Given the description of an element on the screen output the (x, y) to click on. 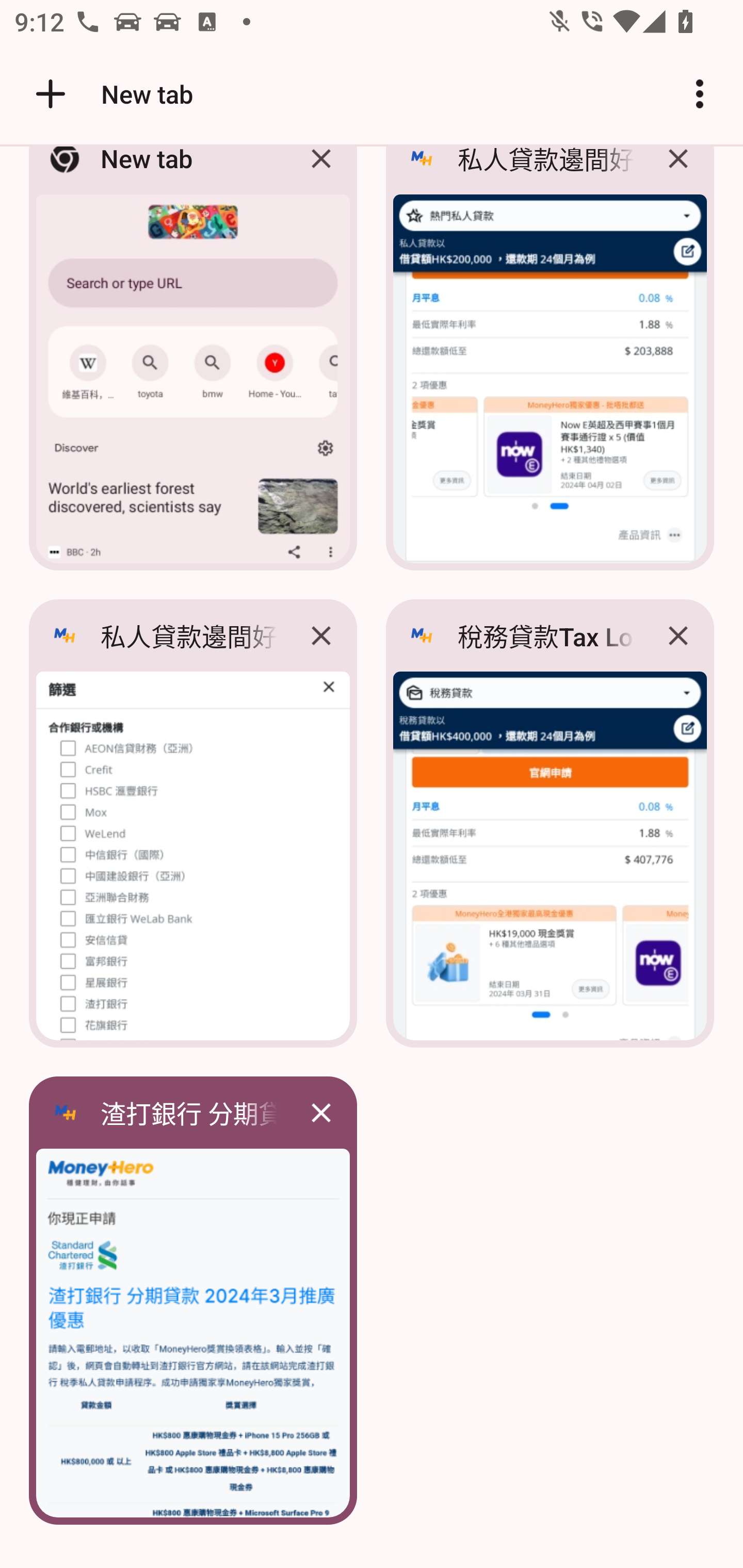
Open the home page (43, 93)
New tab (111, 93)
Customize and control Google Chrome (699, 93)
Customize and control Google Chrome (699, 93)
Customize and control Google Chrome (699, 93)
New tab New tab, tab Close New tab tab (192, 364)
Close New tab tab (320, 173)
Close 私人貸款邊間好？熱門稅貸、結餘轉戶及低息貸款等產品比較2024 tab (677, 173)
Close 私人貸款邊間好？熱門稅貸、結餘轉戶及低息貸款等產品比較2024 tab (320, 635)
